Given the description of an element on the screen output the (x, y) to click on. 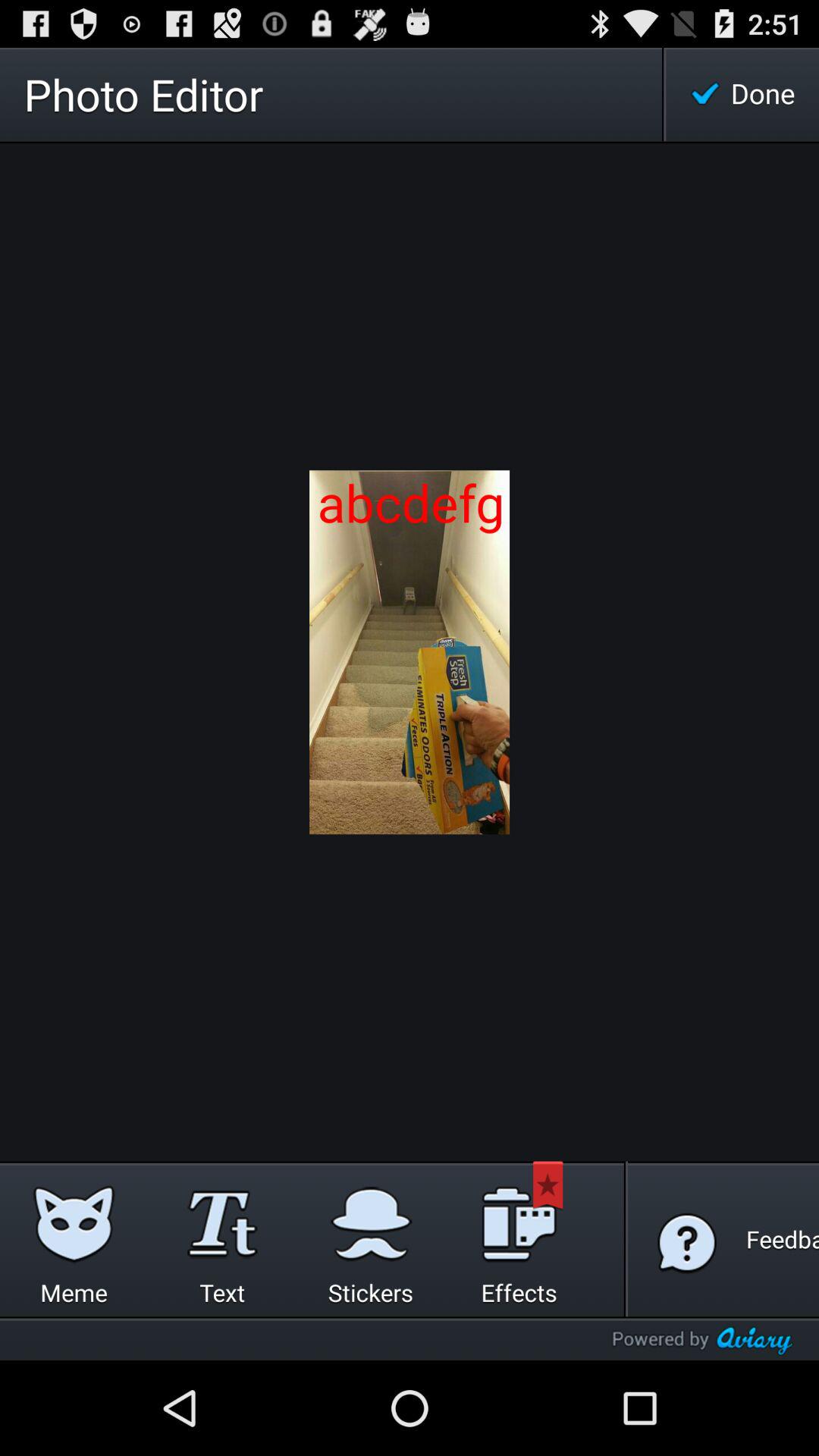
flip until done icon (742, 93)
